Given the description of an element on the screen output the (x, y) to click on. 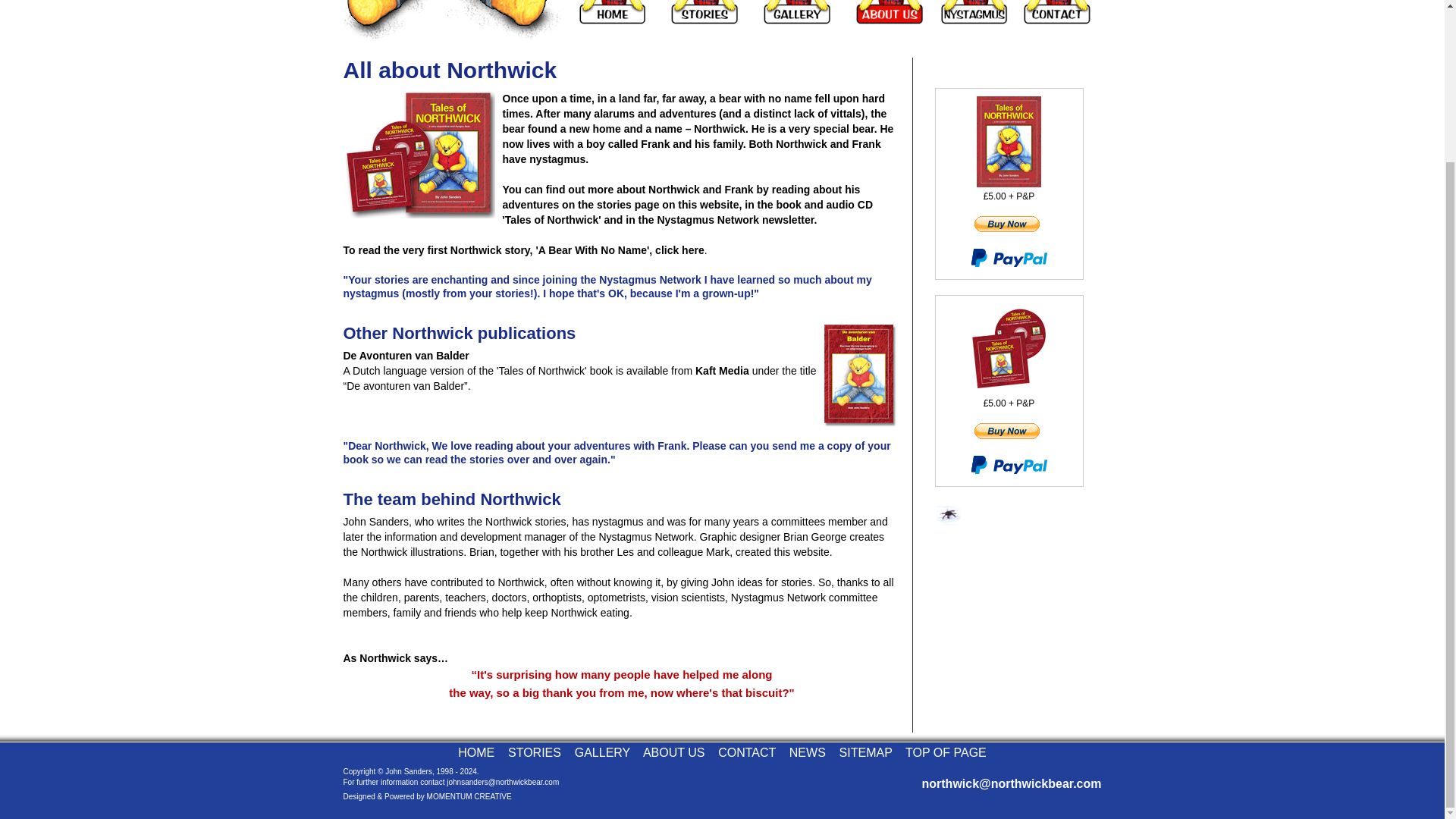
Kaft Media (722, 370)
click here (679, 250)
CONTACT (746, 752)
ABOUT US (673, 752)
STORIES (534, 752)
TOP OF PAGE (946, 752)
MOMENTUM CREATIVE (469, 796)
NEWS (807, 752)
SITEMAP (866, 752)
HOME (476, 752)
